Given the description of an element on the screen output the (x, y) to click on. 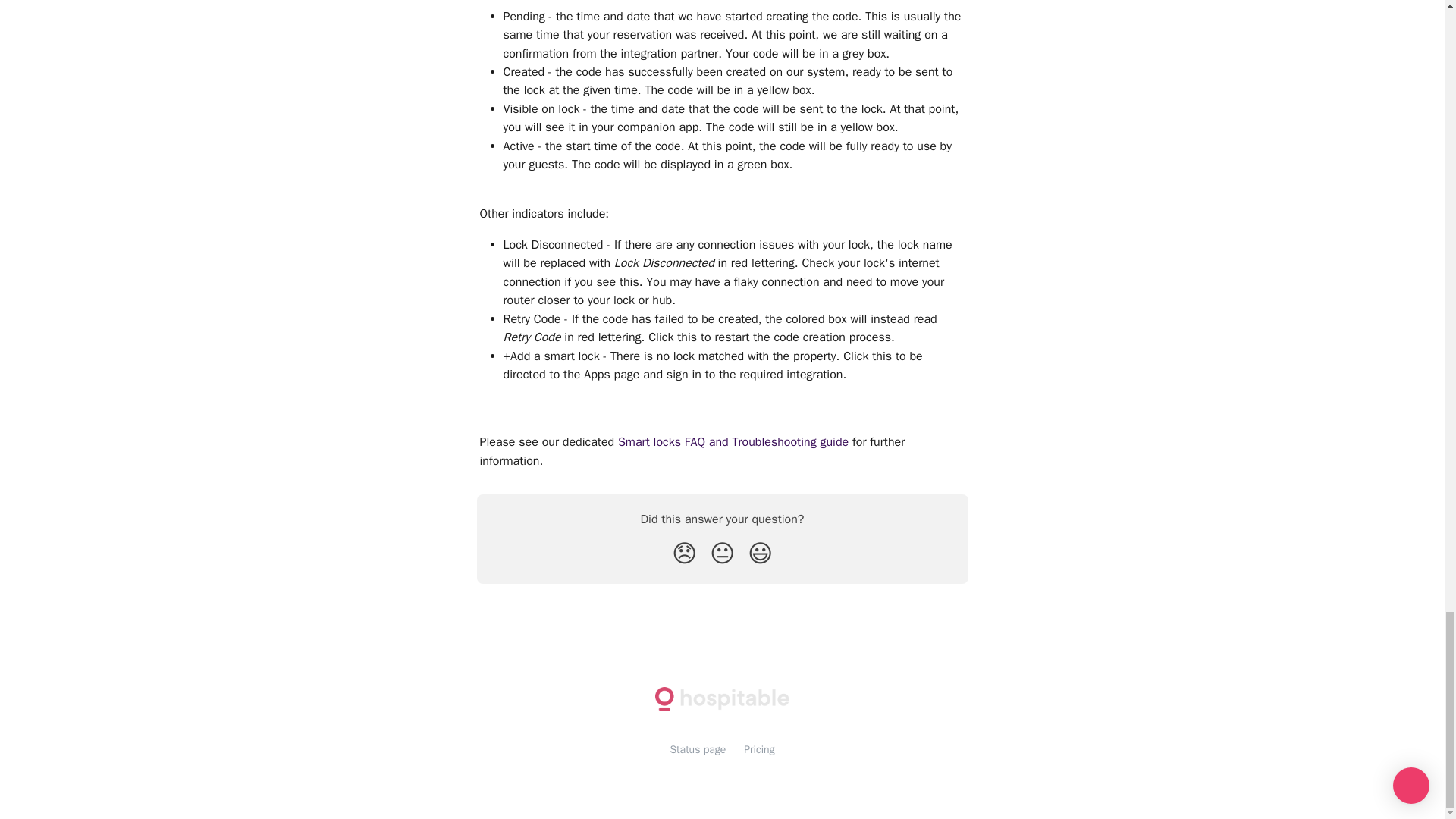
Pricing (759, 748)
Status page (697, 748)
Smart locks FAQ and Troubleshooting guide (732, 441)
